Given the description of an element on the screen output the (x, y) to click on. 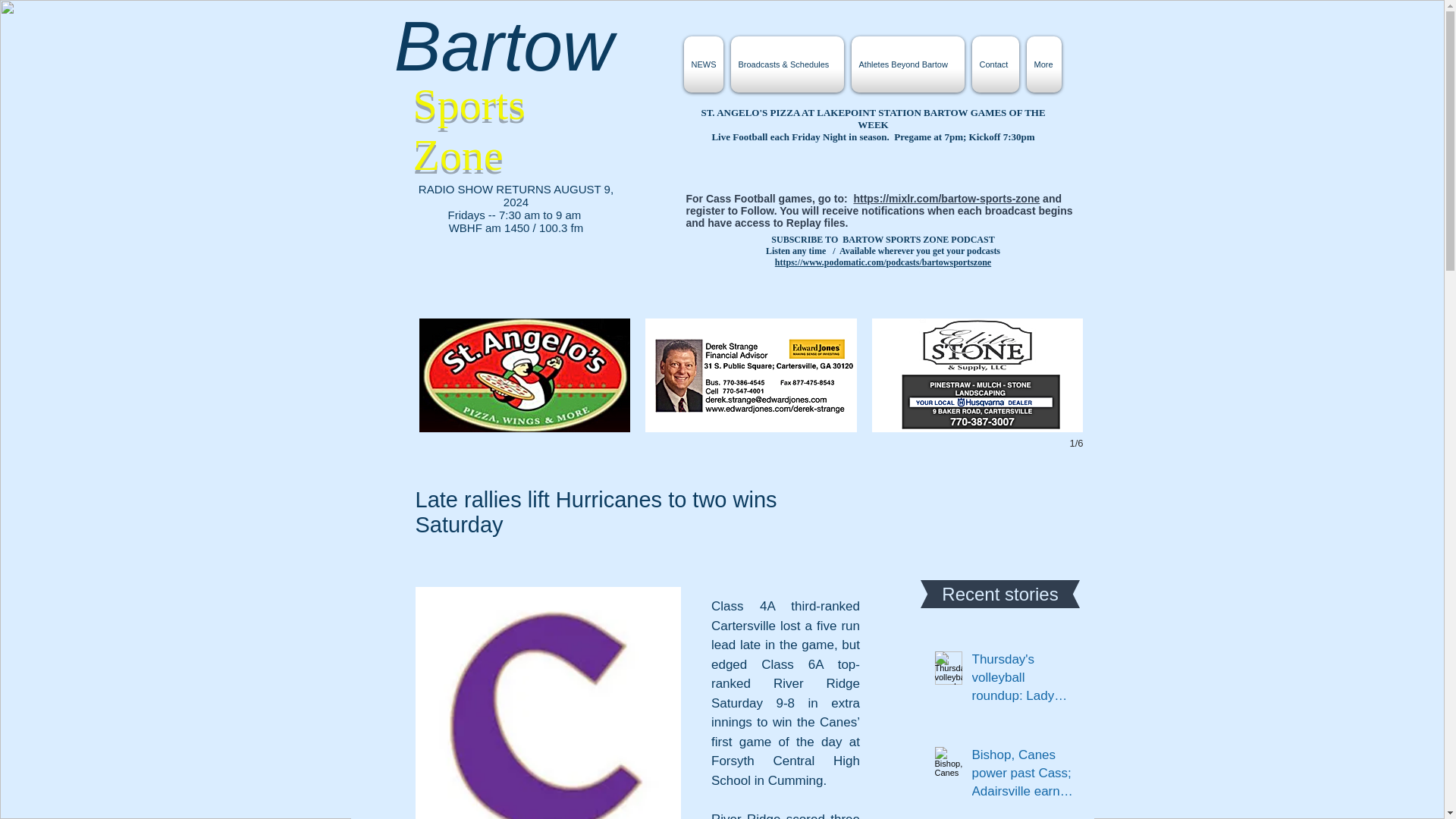
Contact (995, 64)
Athletes Beyond Bartow (907, 64)
